Given the description of an element on the screen output the (x, y) to click on. 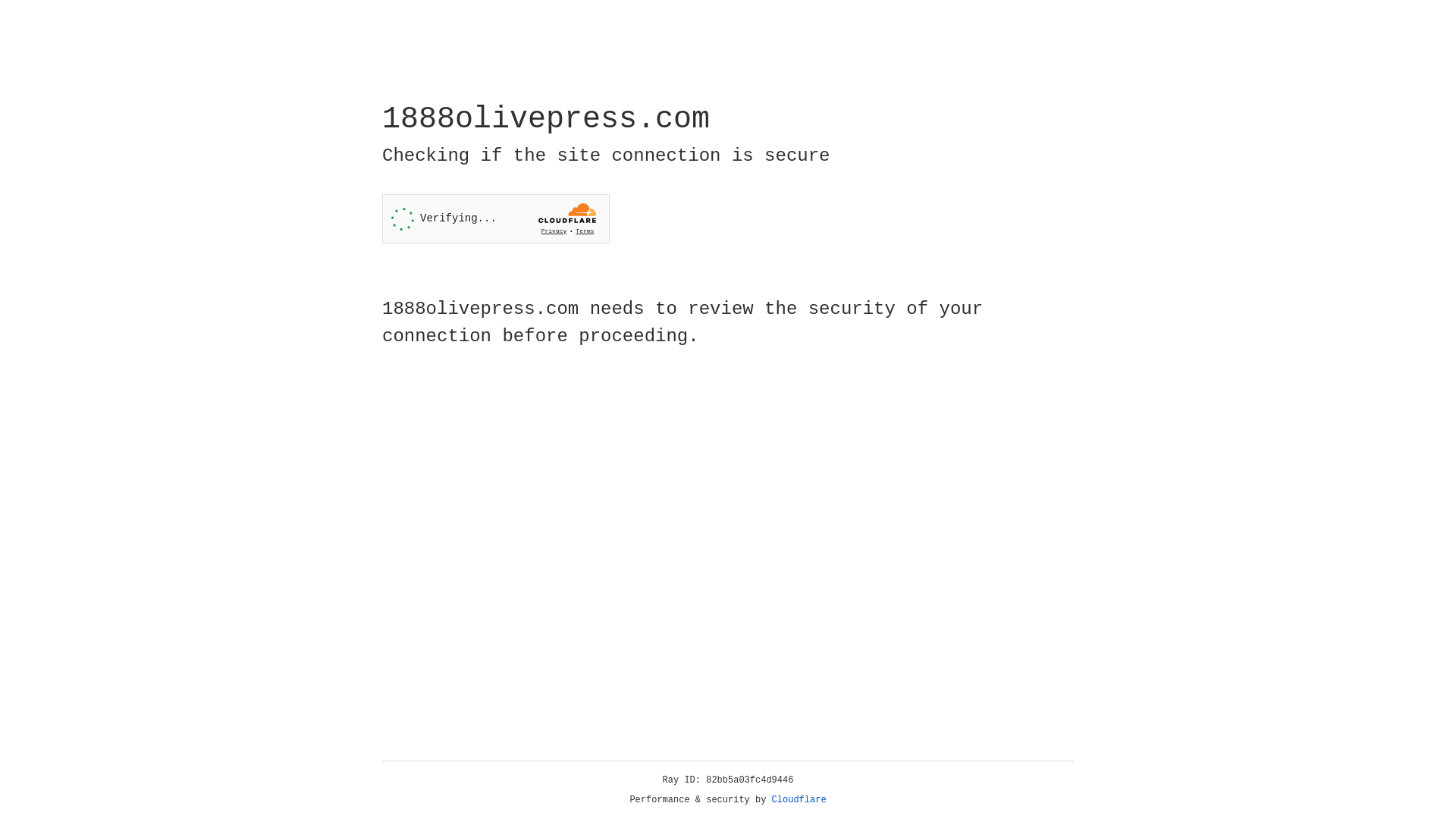
Widget containing a Cloudflare security challenge Element type: hover (495, 218)
Cloudflare Element type: text (798, 799)
